Given the description of an element on the screen output the (x, y) to click on. 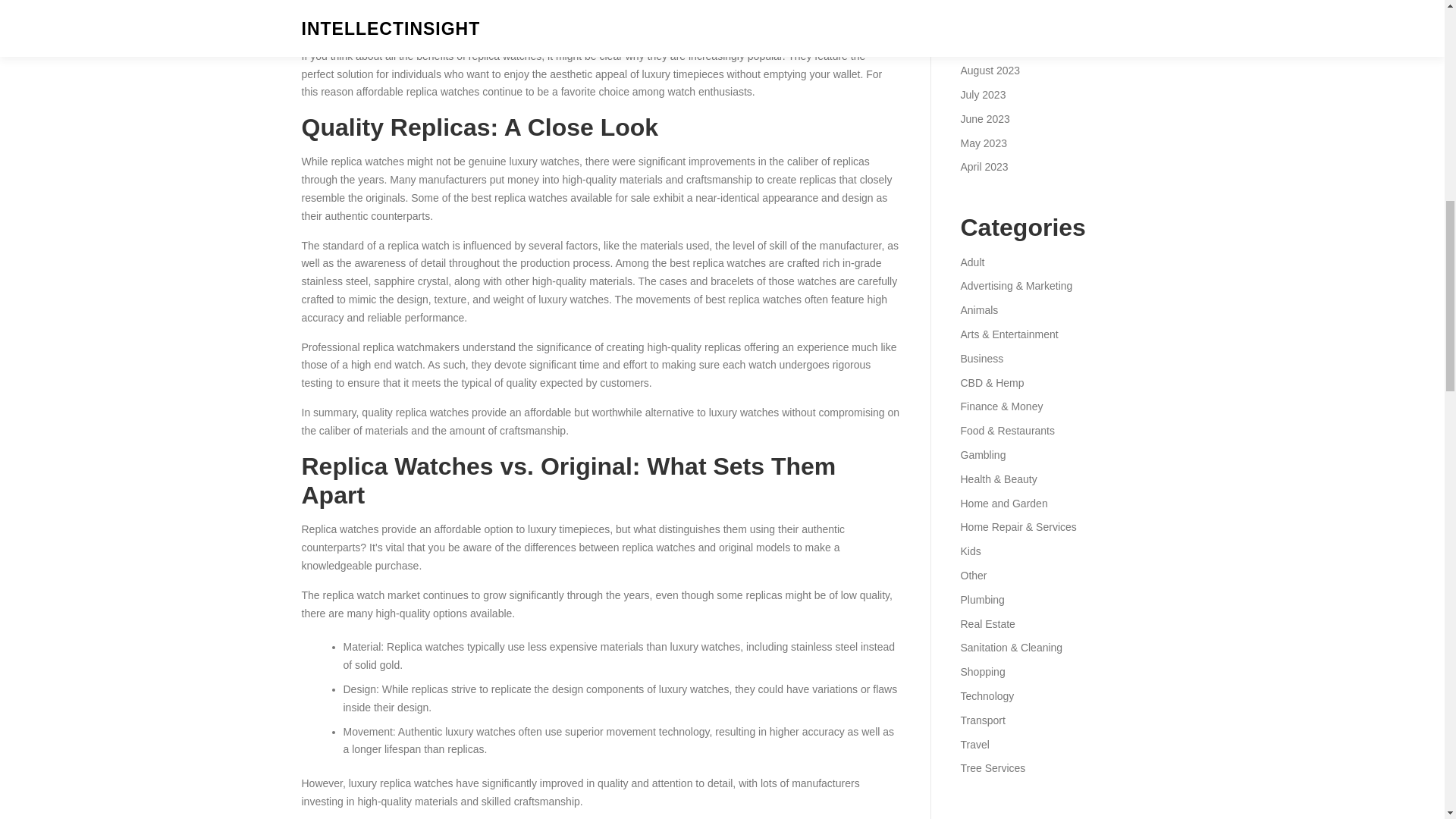
Business (981, 358)
Adult (971, 262)
August 2023 (989, 70)
April 2023 (983, 166)
October 2023 (992, 22)
June 2023 (984, 119)
Animals (978, 309)
July 2023 (982, 94)
September 2023 (999, 46)
November 2023 (997, 2)
May 2023 (982, 143)
